Given the description of an element on the screen output the (x, y) to click on. 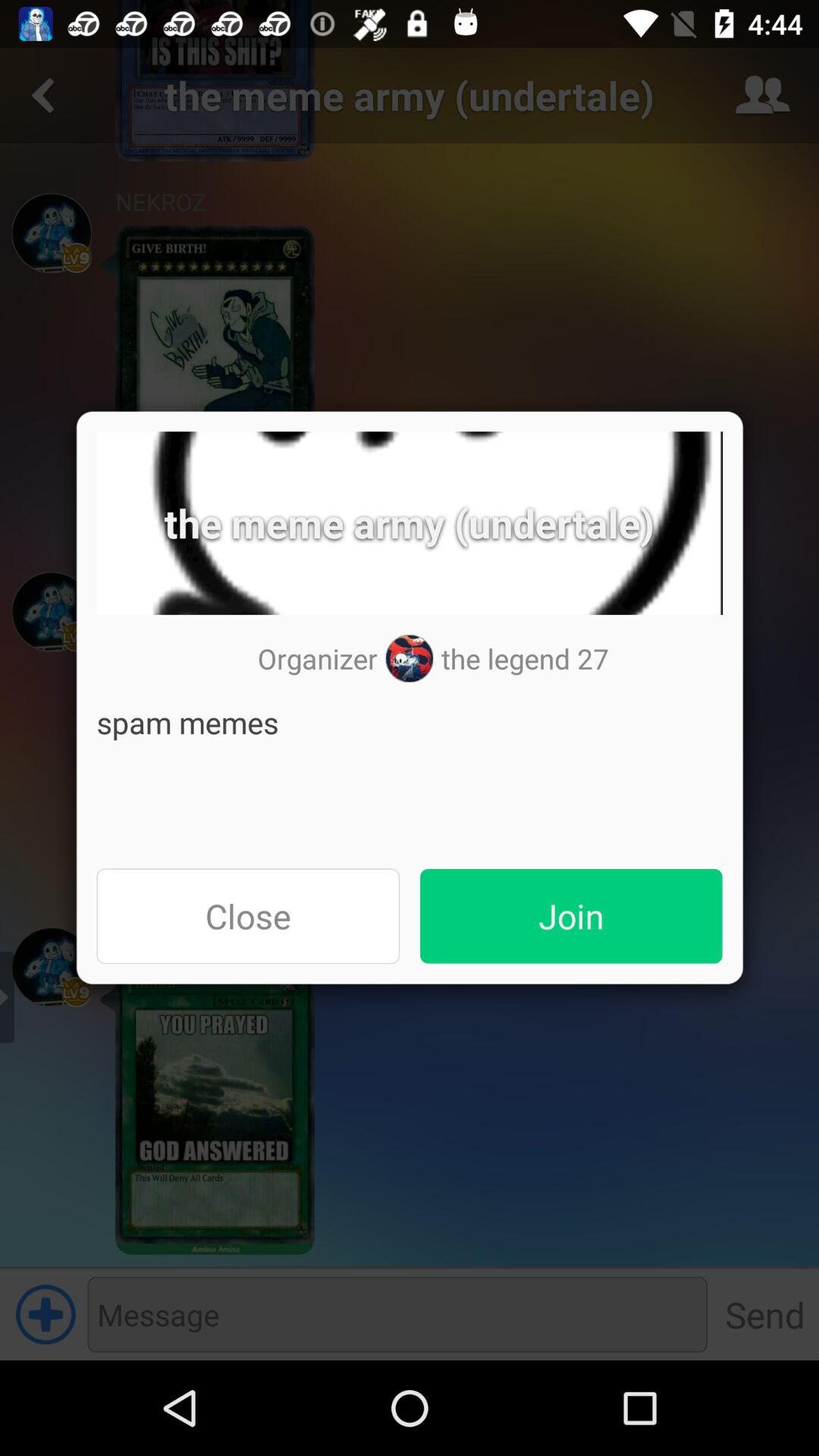
turn off icon on the left (247, 916)
